Given the description of an element on the screen output the (x, y) to click on. 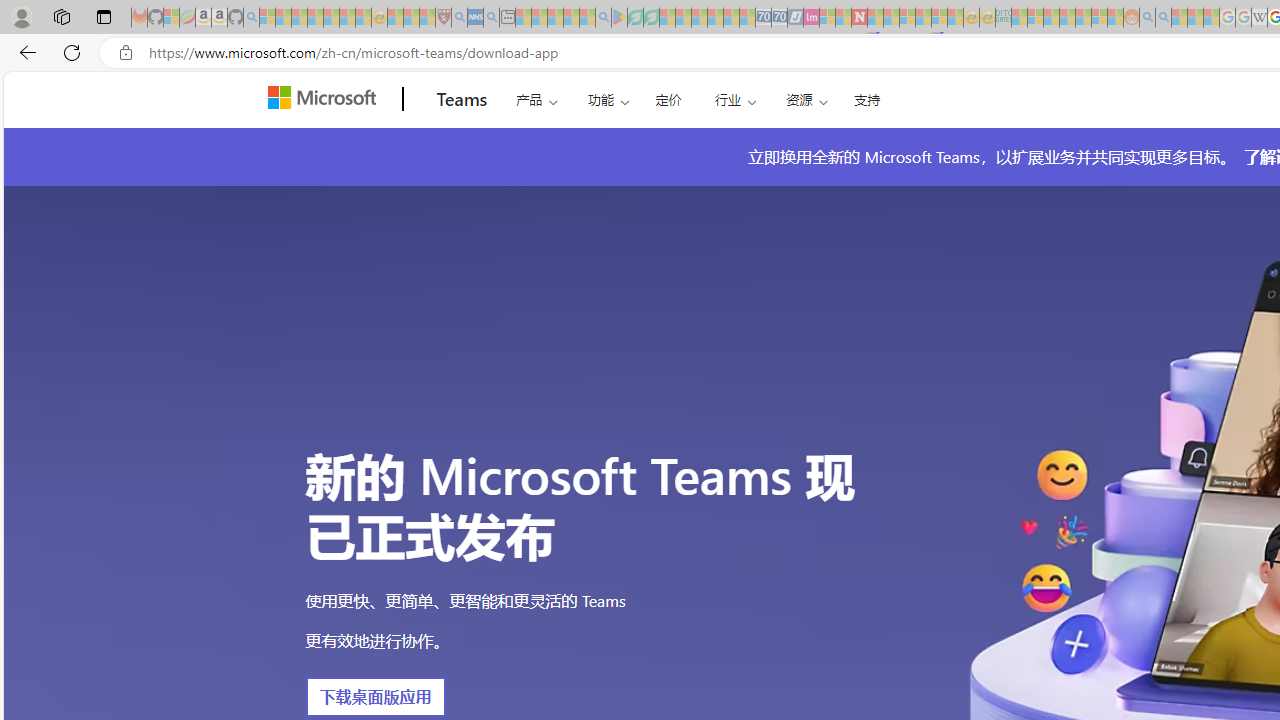
Terms of Use Agreement - Sleeping (635, 17)
google - Search - Sleeping (603, 17)
Expert Portfolios - Sleeping (1067, 17)
Pets - MSN - Sleeping (571, 17)
